Given the description of an element on the screen output the (x, y) to click on. 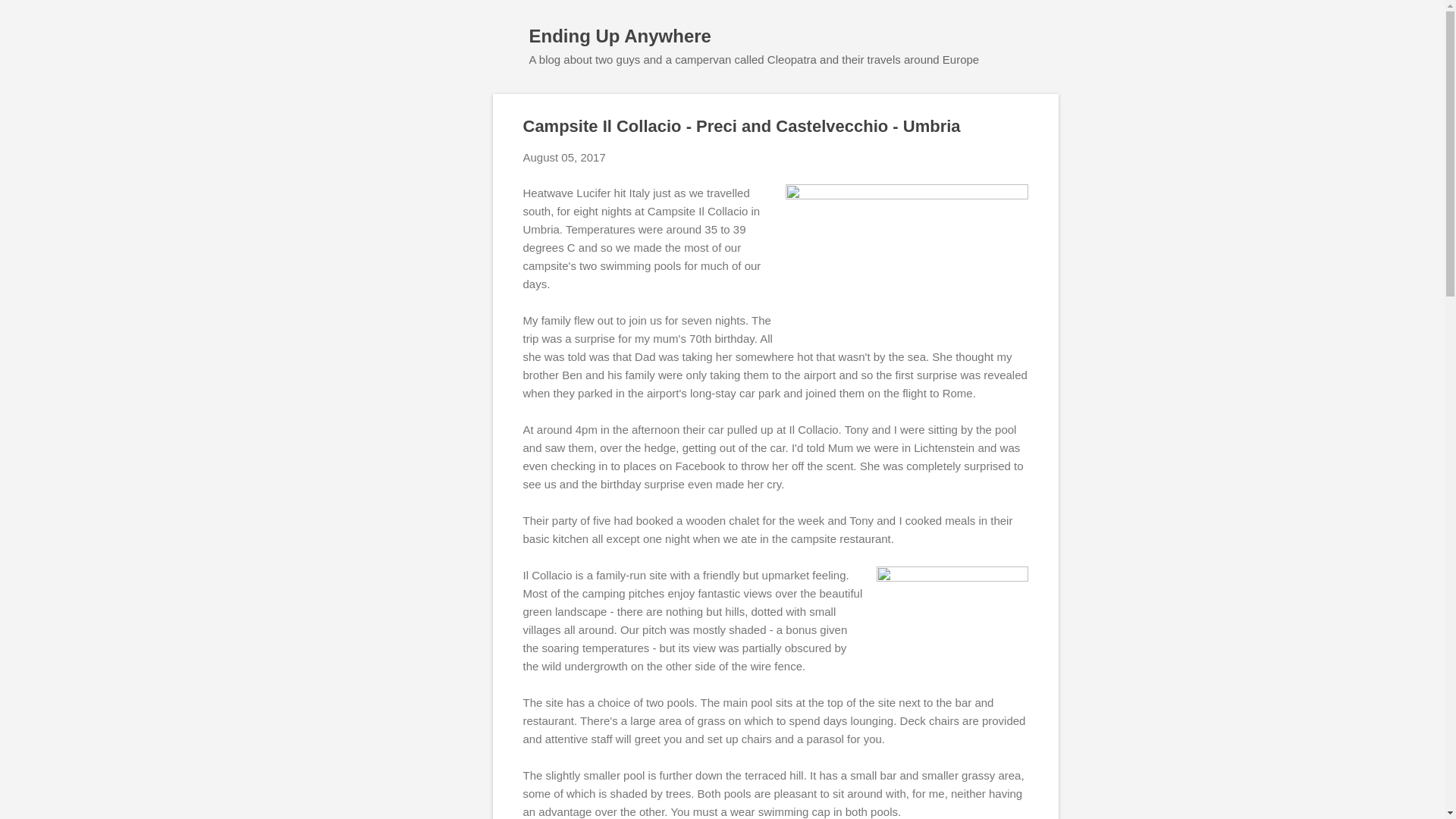
permanent link (563, 156)
Ending Up Anywhere (620, 35)
August 05, 2017 (563, 156)
